Given the description of an element on the screen output the (x, y) to click on. 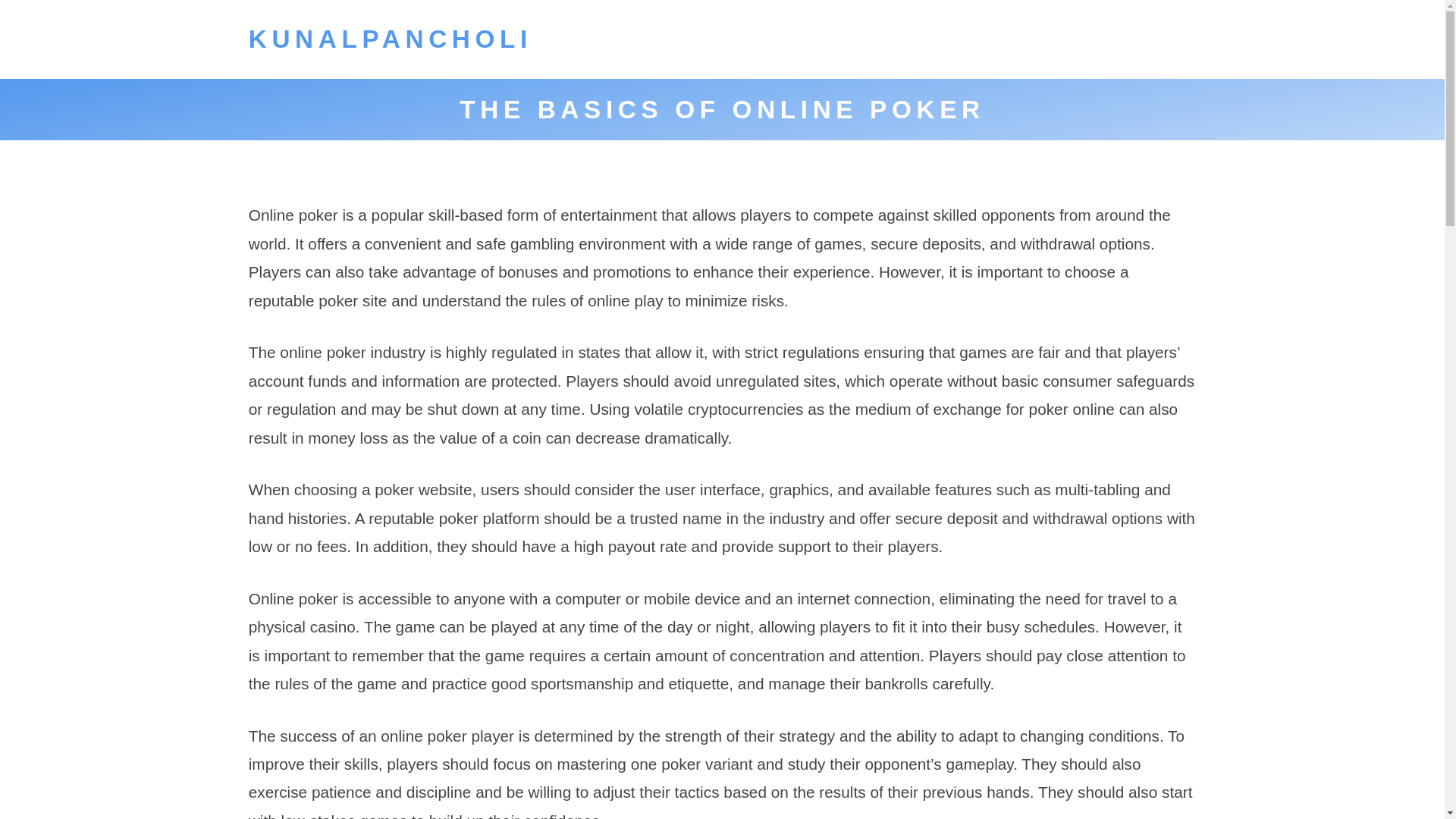
KUNALPANCHOLI (390, 39)
